Given the description of an element on the screen output the (x, y) to click on. 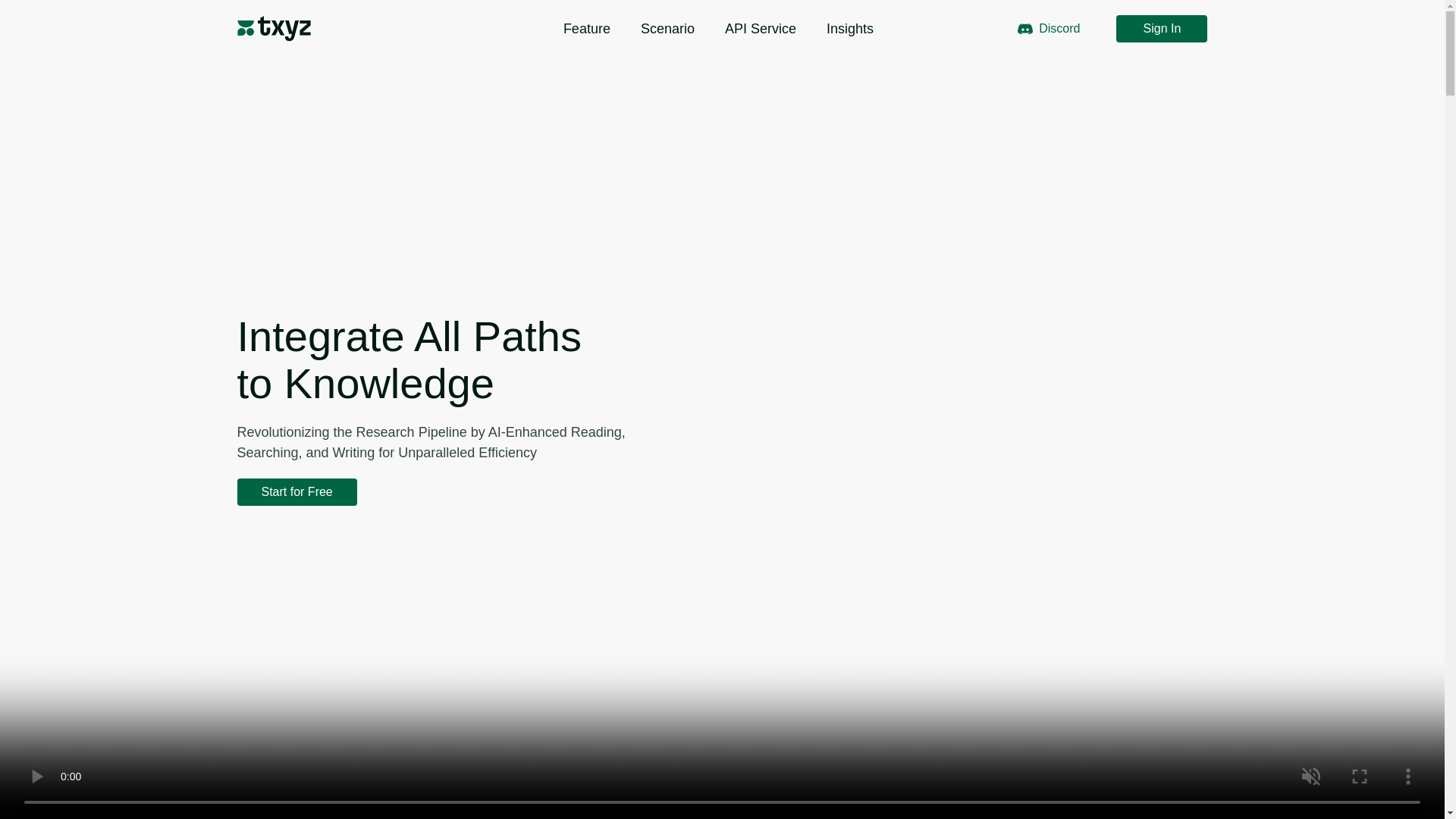
Scenario (667, 28)
Discord (1047, 28)
Start for Free (295, 492)
Insights (850, 28)
Feature (586, 28)
Sign In (1161, 28)
API Service (760, 28)
